Given the description of an element on the screen output the (x, y) to click on. 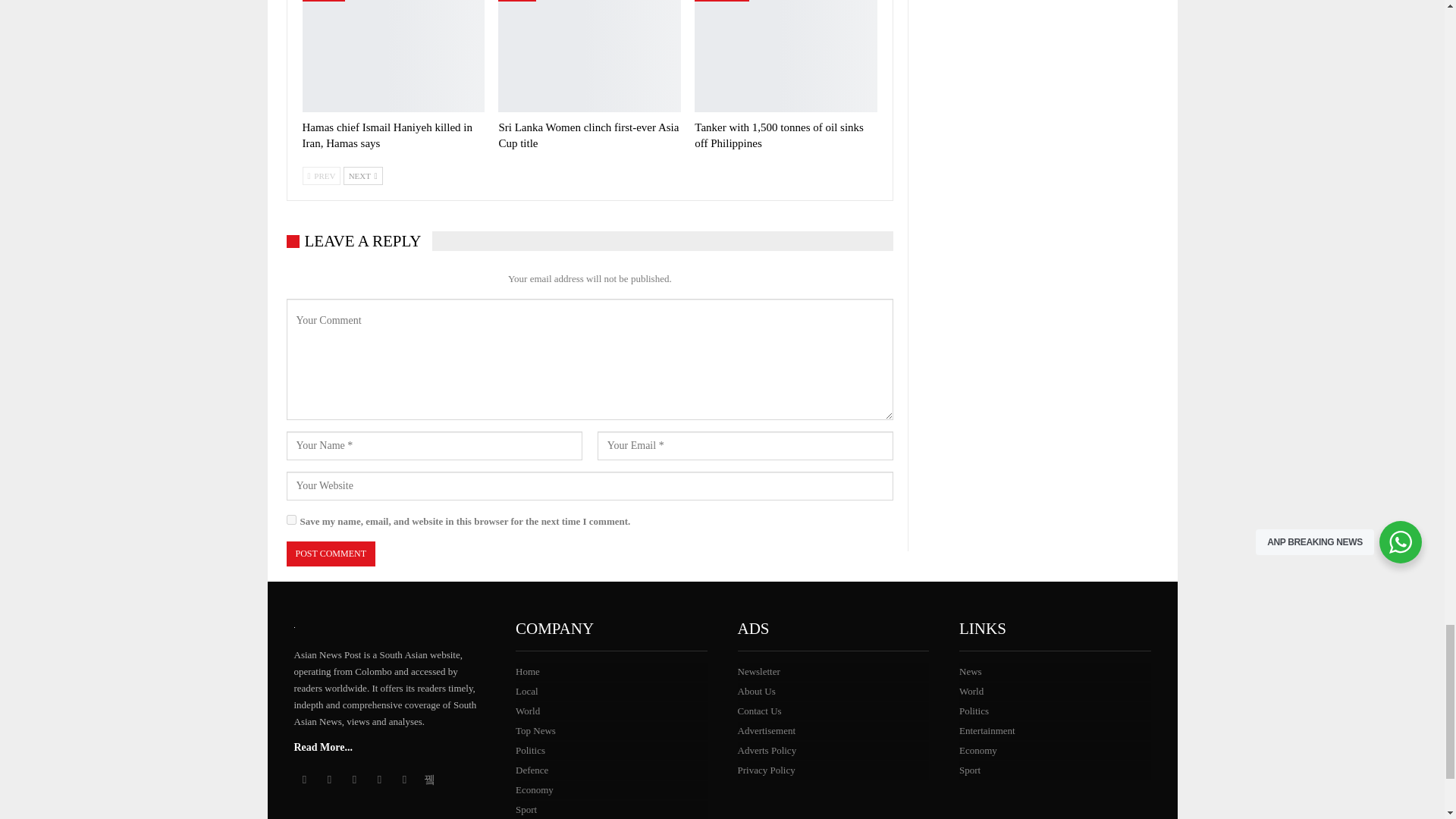
Sri Lanka Women clinch first-ever Asia Cup title (589, 56)
Hamas chief Ismail Haniyeh killed in Iran, Hamas says (386, 135)
Sri Lanka Women clinch first-ever Asia Cup title (587, 135)
yes (291, 519)
Post Comment (330, 553)
Hamas chief Ismail Haniyeh killed in Iran, Hamas says (392, 56)
Tanker with 1,500 tonnes of oil sinks off Philippines (778, 135)
Tanker with 1,500 tonnes of oil sinks off Philippines (785, 56)
